Given the description of an element on the screen output the (x, y) to click on. 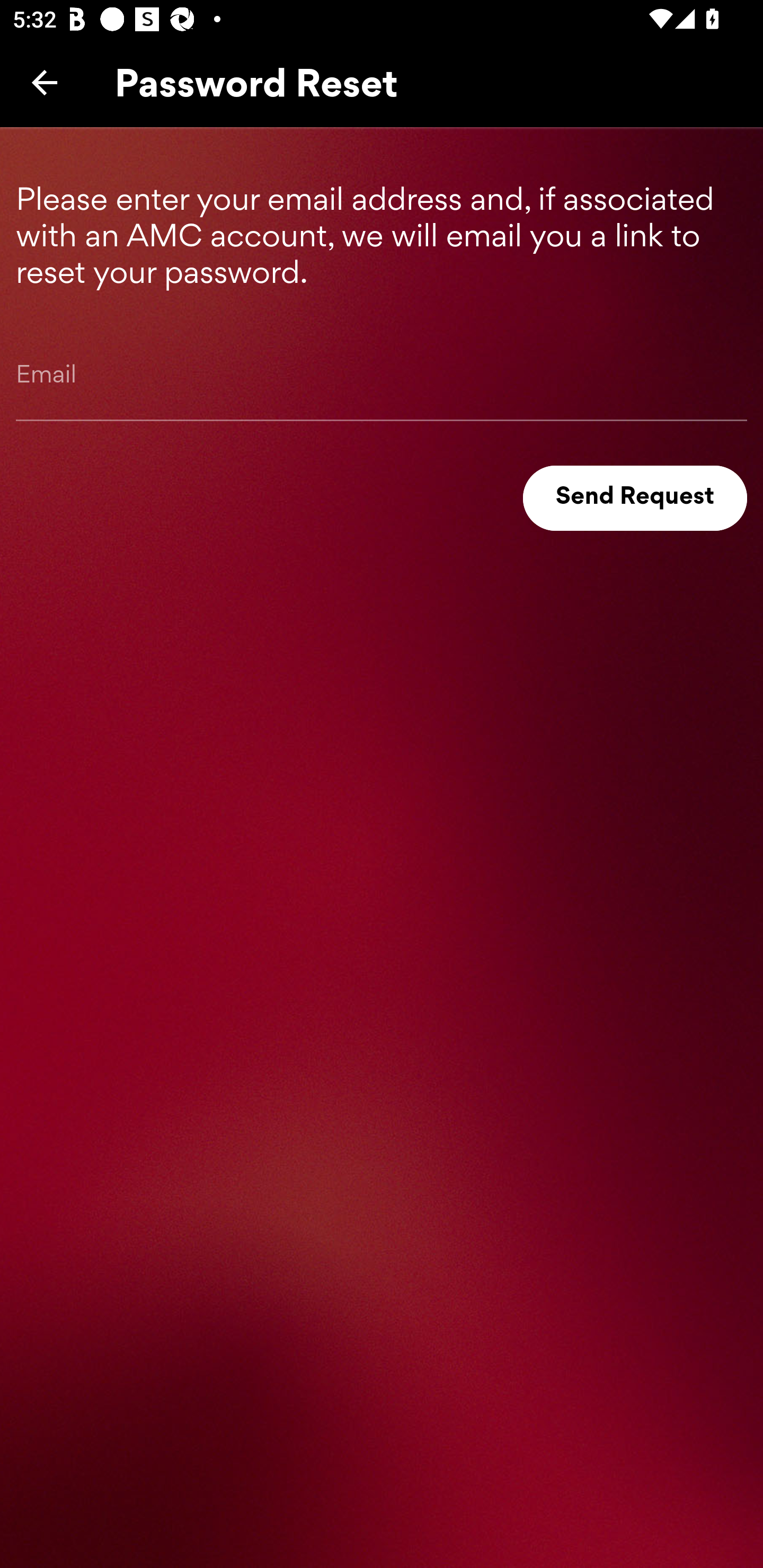
Back (44, 82)
Send Request (634, 498)
